Given the description of an element on the screen output the (x, y) to click on. 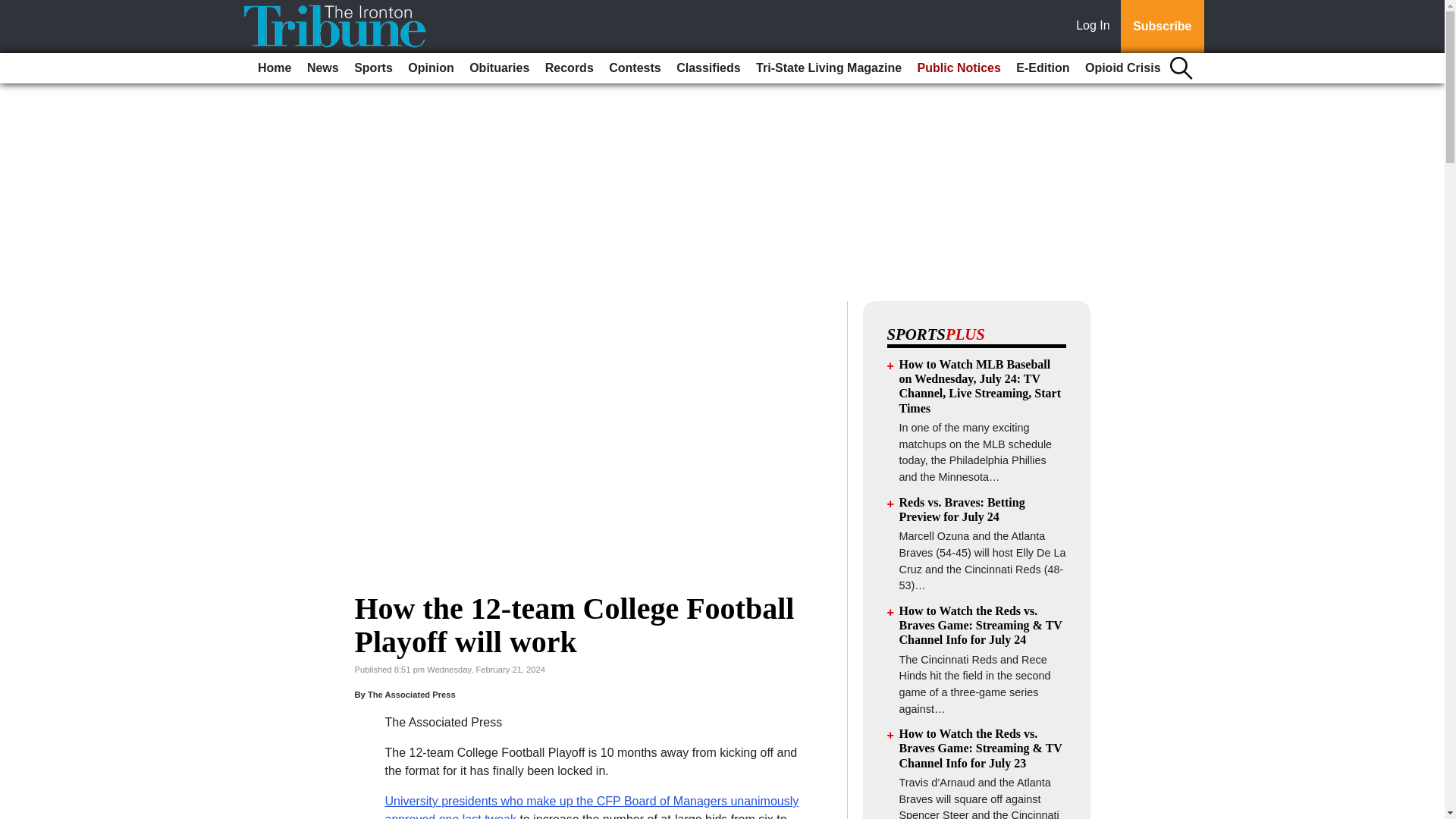
News (323, 68)
E-Edition (1042, 68)
Sports (372, 68)
Public Notices (959, 68)
Log In (1095, 26)
Tri-State Living Magazine (828, 68)
Opinion (430, 68)
Subscribe (1162, 26)
Classifieds (707, 68)
The Associated Press (411, 694)
Reds vs. Braves: Betting Preview for July 24 (962, 509)
Home (274, 68)
Obituaries (499, 68)
